Given the description of an element on the screen output the (x, y) to click on. 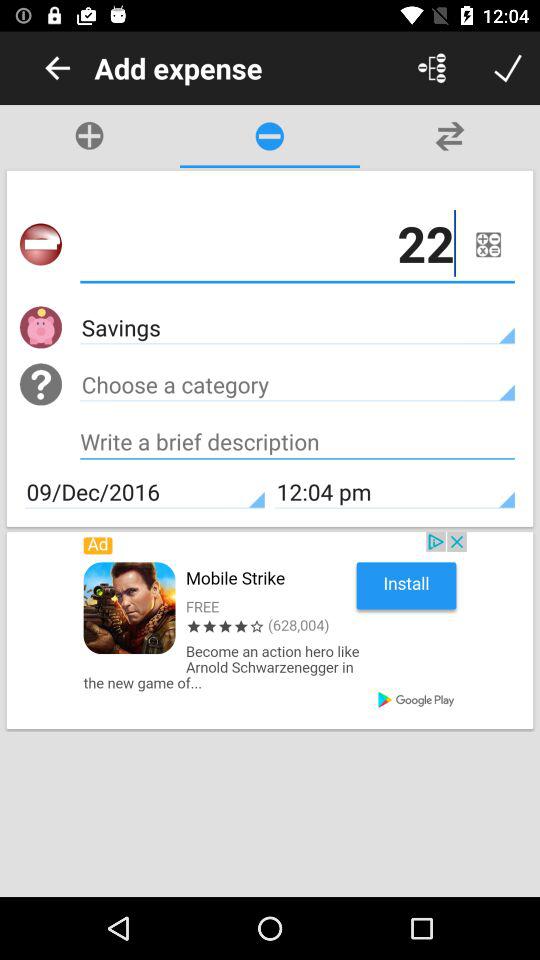
daily expenses 3 personal finance (508, 67)
